Given the description of an element on the screen output the (x, y) to click on. 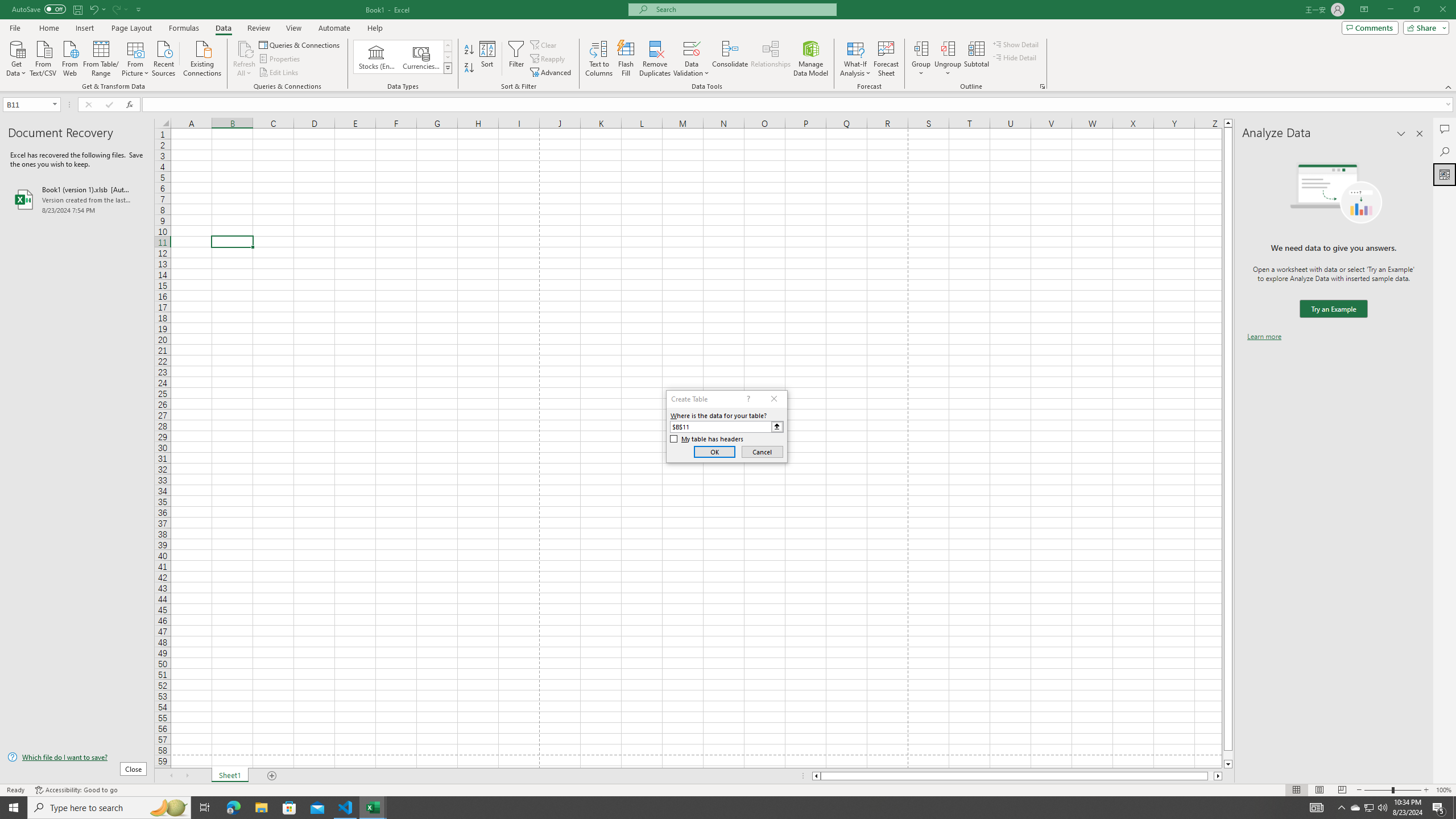
Scroll Right (187, 775)
From Picture (135, 57)
Refresh All (244, 58)
Quick Access Toolbar (77, 9)
Data (223, 28)
Column left (815, 775)
Sheet1 (229, 775)
Zoom In (1426, 790)
Learn more (1264, 336)
Manage Data Model (810, 58)
Automate (334, 28)
AutoSave (38, 9)
Task Pane Options (1400, 133)
From Text/CSV (43, 57)
Class: MsoCommandBar (728, 45)
